Given the description of an element on the screen output the (x, y) to click on. 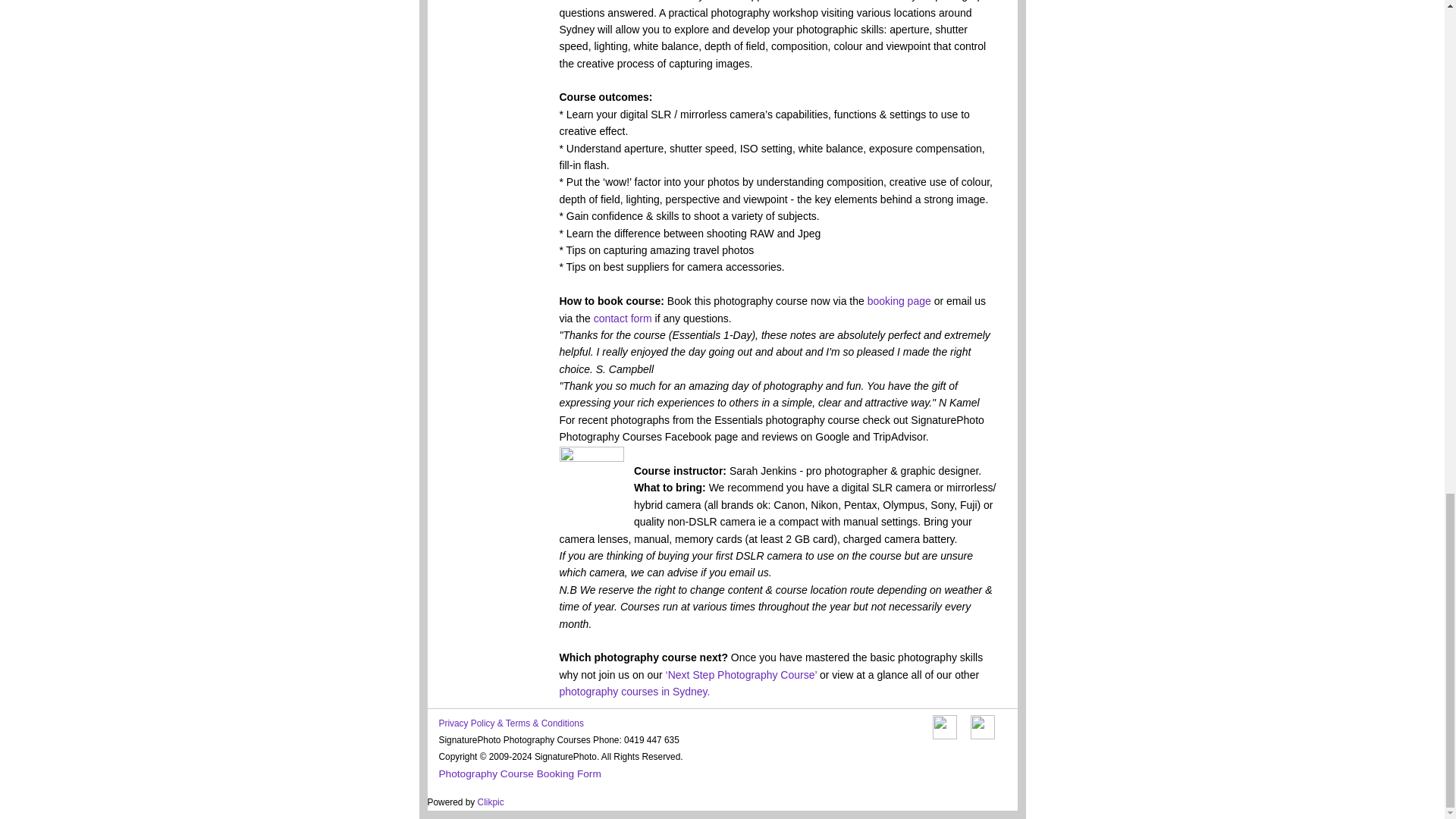
booking page (899, 300)
Clikpic (490, 801)
photography courses in Sydney. (634, 691)
Photography Course Booking Form (518, 773)
contact form (623, 318)
